Given the description of an element on the screen output the (x, y) to click on. 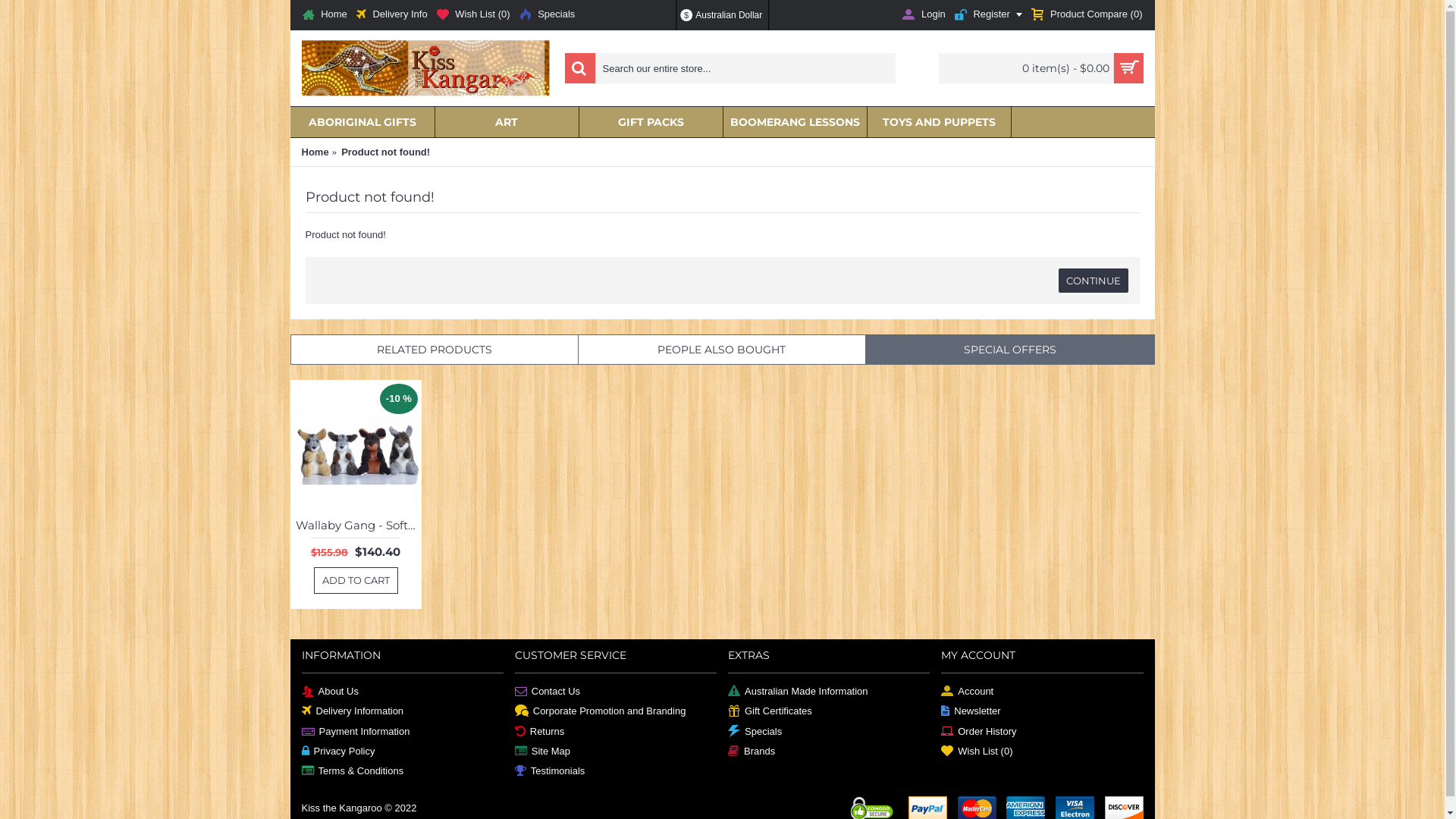
RELATED PRODUCTS Element type: text (434, 349)
Wallaby Gang - Soft Toys Element type: hover (354, 445)
Returns Element type: text (615, 731)
Kiss the Kangaroo Element type: hover (425, 67)
CONTINUE Element type: text (1093, 280)
Wish List (0) Element type: text (1041, 751)
Wish List (0) Element type: text (473, 15)
Delivery Information Element type: text (402, 711)
Login Element type: text (923, 15)
Register Element type: text (988, 15)
Home Element type: text (324, 15)
BOOMERANG LESSONS Element type: text (794, 121)
ART Element type: text (506, 121)
Specials Element type: text (828, 731)
GIFT PACKS Element type: text (650, 121)
Newsletter Element type: text (1041, 711)
Australian Made Information Element type: text (828, 691)
Brands Element type: text (828, 751)
ABORIGINAL GIFTS Element type: text (361, 121)
Account Element type: text (1041, 691)
Payment Information Element type: text (402, 731)
0 item(s) - $0.00 Element type: text (1040, 68)
Corporate Promotion and Branding Element type: text (615, 711)
About Us Element type: text (402, 691)
SPECIAL OFFERS Element type: text (1009, 349)
$
Australian Dollar Element type: text (722, 15)
Wallaby Gang - Soft Toys Element type: text (354, 524)
Specials Element type: text (547, 15)
Order History Element type: text (1041, 731)
Home Element type: text (315, 152)
Privacy Policy Element type: text (402, 751)
Site Map Element type: text (615, 751)
Gift Certificates Element type: text (828, 711)
PEOPLE ALSO BOUGHT Element type: text (721, 349)
Product Compare (0) Element type: text (1086, 15)
Testimonials Element type: text (615, 771)
TOYS AND PUPPETS Element type: text (938, 121)
Product not found! Element type: text (385, 152)
ADD TO CART Element type: text (355, 580)
Contact Us Element type: text (615, 691)
Delivery Info Element type: text (391, 15)
Terms & Conditions Element type: text (402, 771)
